Given the description of an element on the screen output the (x, y) to click on. 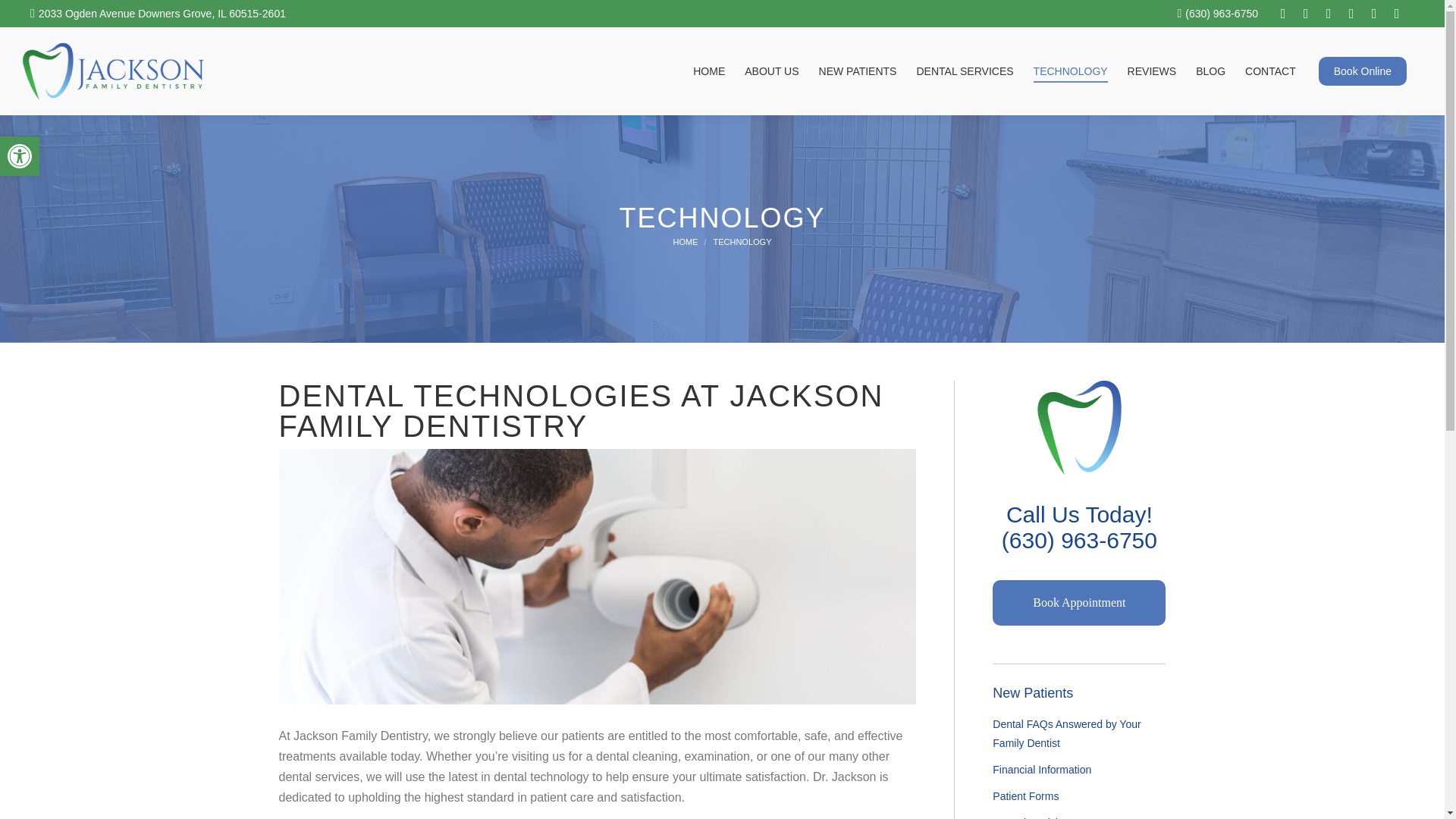
Facebook page opens in new window (1282, 13)
Instagram page opens in new window (1305, 13)
Pinterest page opens in new window (1374, 13)
2033 Ogden Avenue Downers Grove, IL 60515-2601 (157, 13)
Instagram page opens in new window (1305, 13)
Linkedin page opens in new window (1396, 13)
Accessibility Tools (19, 156)
YouTube page opens in new window (1350, 13)
Accessibility Tools (19, 156)
Twitter page opens in new window (1328, 13)
